Given the description of an element on the screen output the (x, y) to click on. 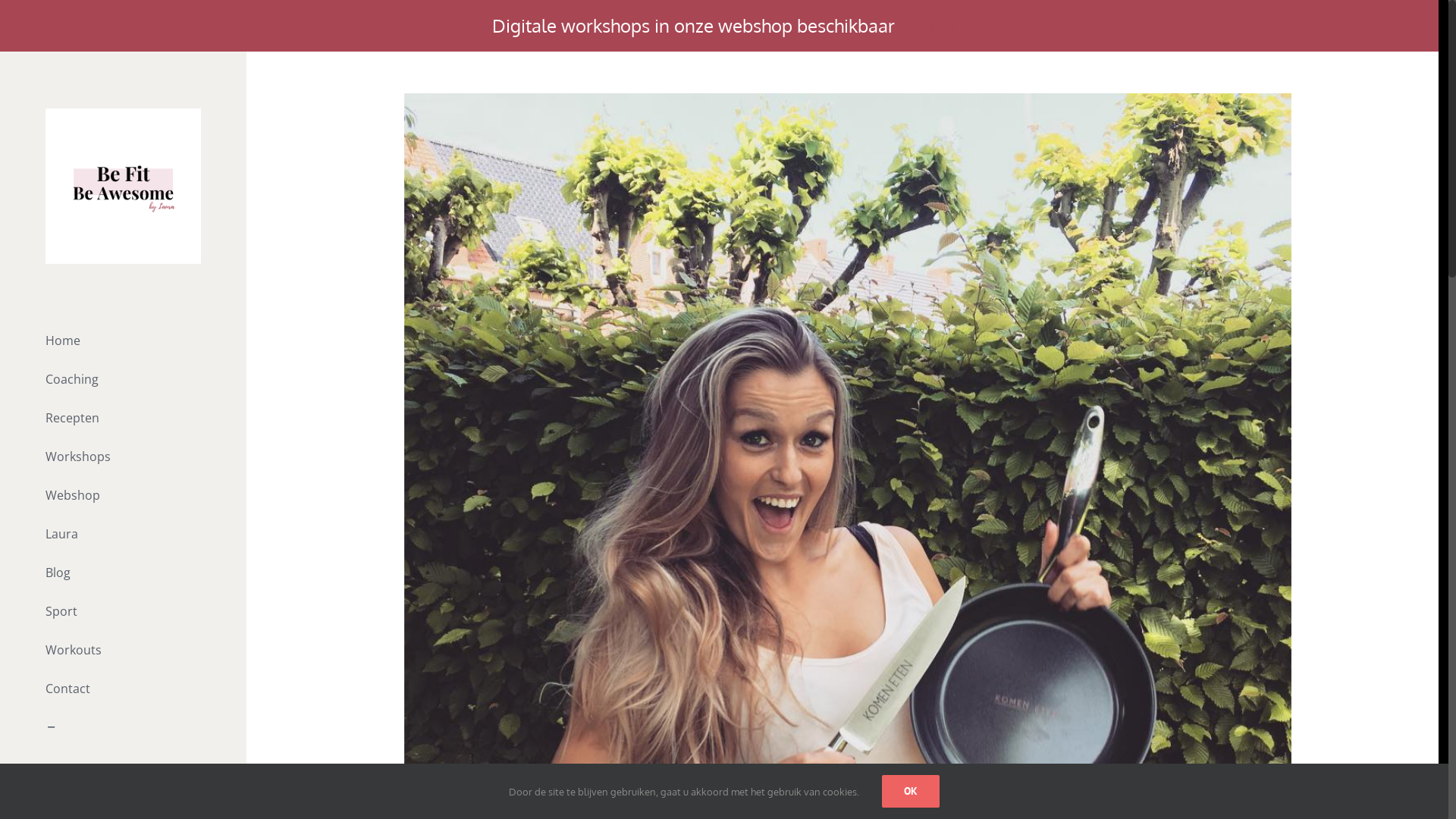
Sport Element type: text (123, 611)
OK Element type: text (910, 791)
Workouts Element type: text (123, 649)
Contact Element type: text (123, 688)
Coaching Element type: text (123, 379)
Recepten Element type: text (123, 417)
Laura Element type: text (123, 533)
Toggle Sliding Bar Element type: hover (123, 727)
Workshops Element type: text (123, 456)
Blog Element type: text (123, 572)
Home Element type: text (123, 340)
Webshop Element type: text (123, 495)
Sluiten Element type: text (927, 25)
